Given the description of an element on the screen output the (x, y) to click on. 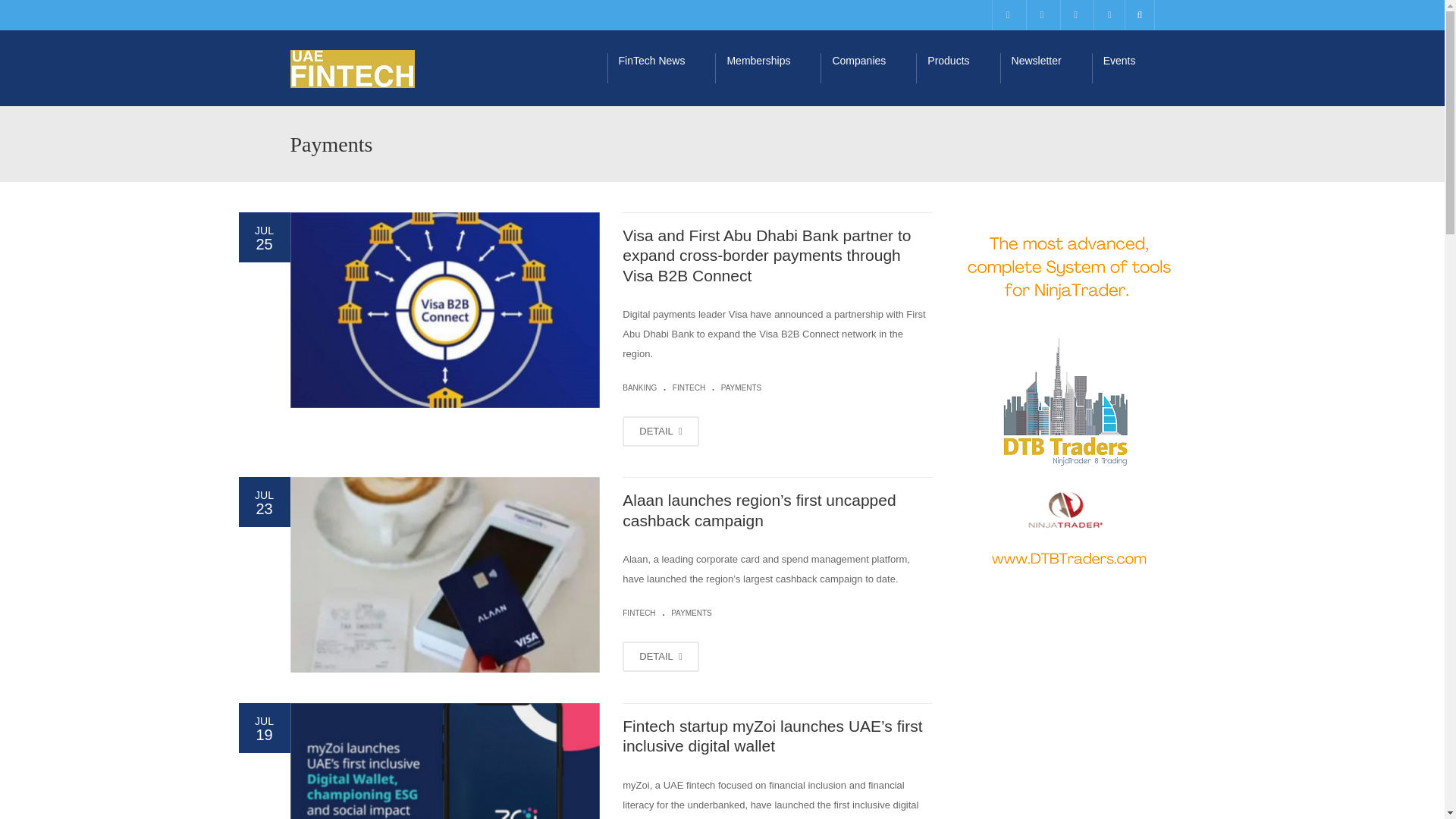
FinTech News (661, 68)
Companies (868, 68)
FINTECH (688, 388)
BANKING (639, 388)
Memberships (767, 68)
Payments Archives - UAE FinTech (351, 67)
PAYMENTS (740, 388)
